Given the description of an element on the screen output the (x, y) to click on. 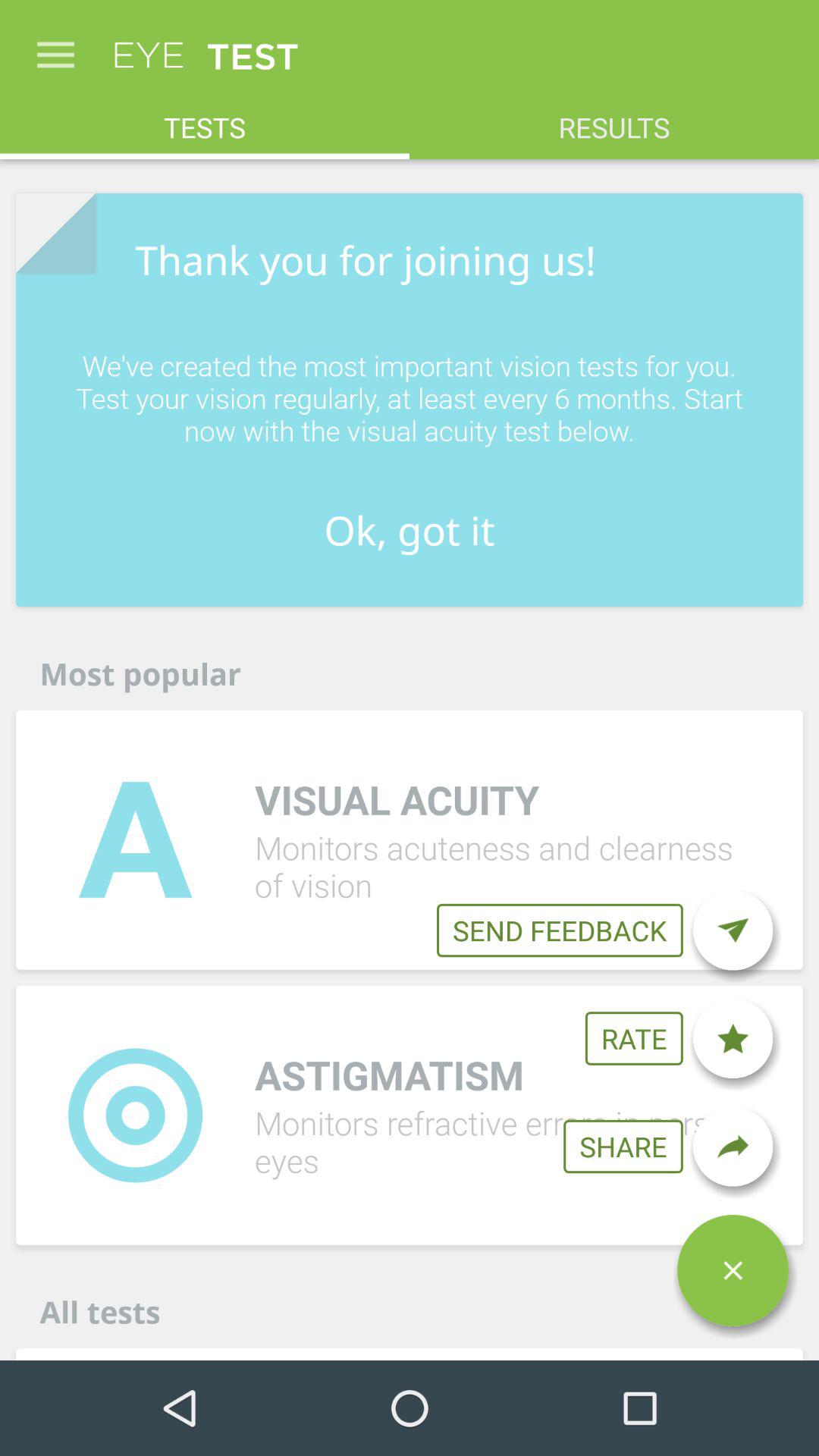
select the icon below visual acuity item (559, 930)
